Given the description of an element on the screen output the (x, y) to click on. 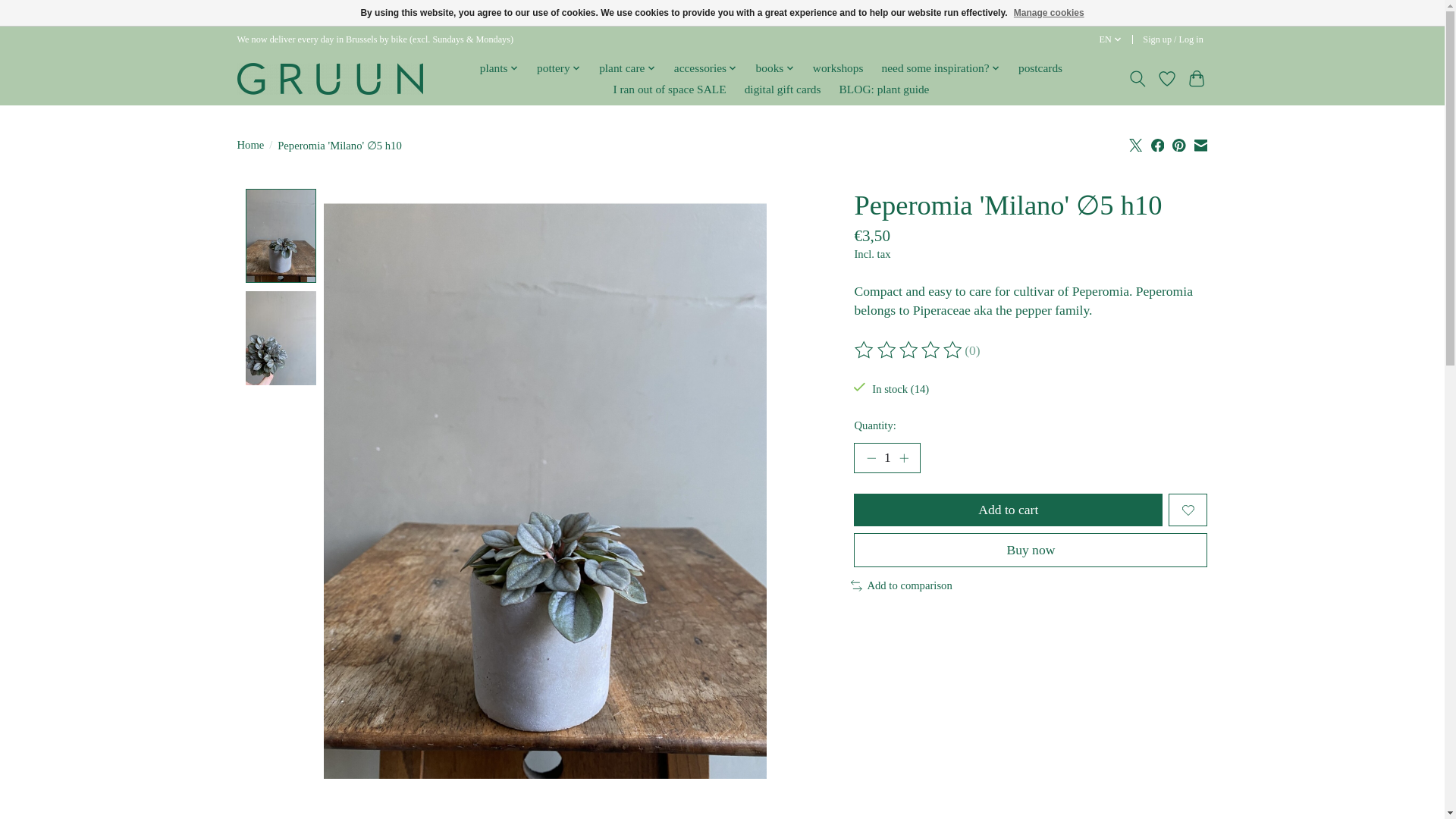
1 (886, 458)
plants (499, 67)
GRUUN (328, 78)
My account (1173, 39)
EN (1110, 39)
pottery (558, 67)
